Given the description of an element on the screen output the (x, y) to click on. 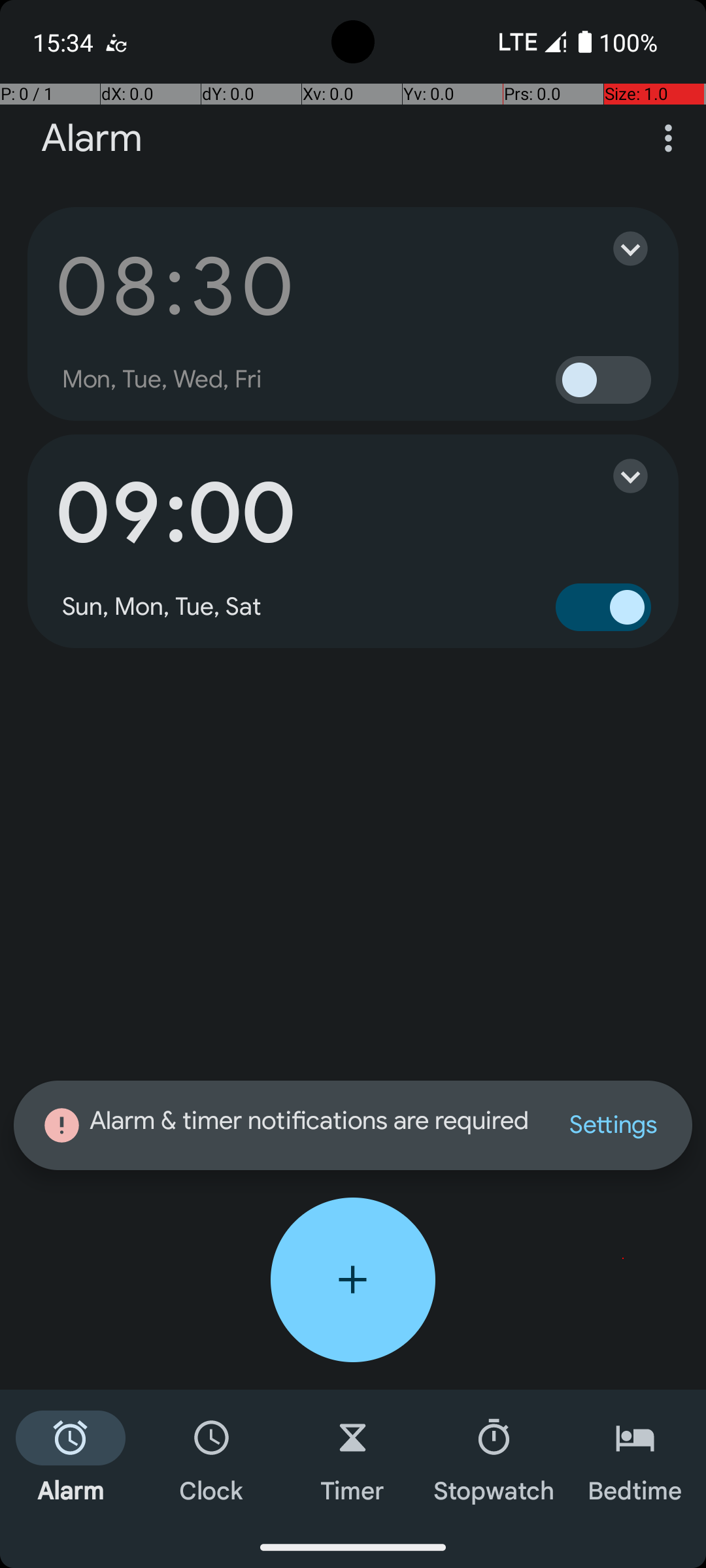
Mon, Tue, Wed, Fri Element type: android.widget.TextView (161, 379)
Sun, Mon, Tue, Sat Element type: android.widget.TextView (161, 606)
Alarm & timer notifications are required Element type: android.widget.TextView (287, 1125)
